Given the description of an element on the screen output the (x, y) to click on. 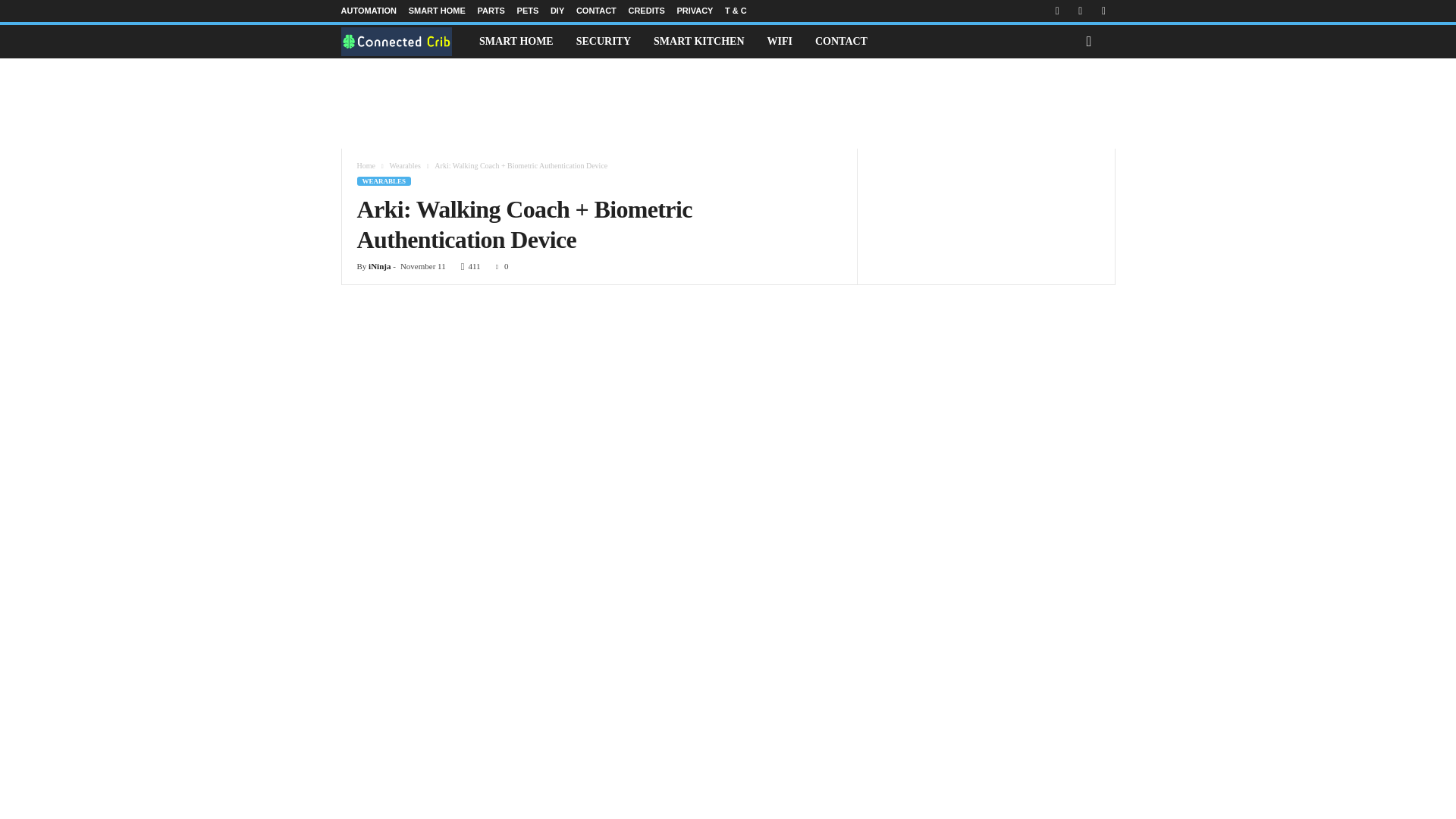
SMART HOME (515, 41)
CREDITS (645, 10)
AUTOMATION (368, 10)
SMART HOME (437, 10)
PRIVACY (695, 10)
DIY (557, 10)
PETS (527, 10)
CONTACT (595, 10)
Connected Crib (404, 41)
PARTS (490, 10)
